Given the description of an element on the screen output the (x, y) to click on. 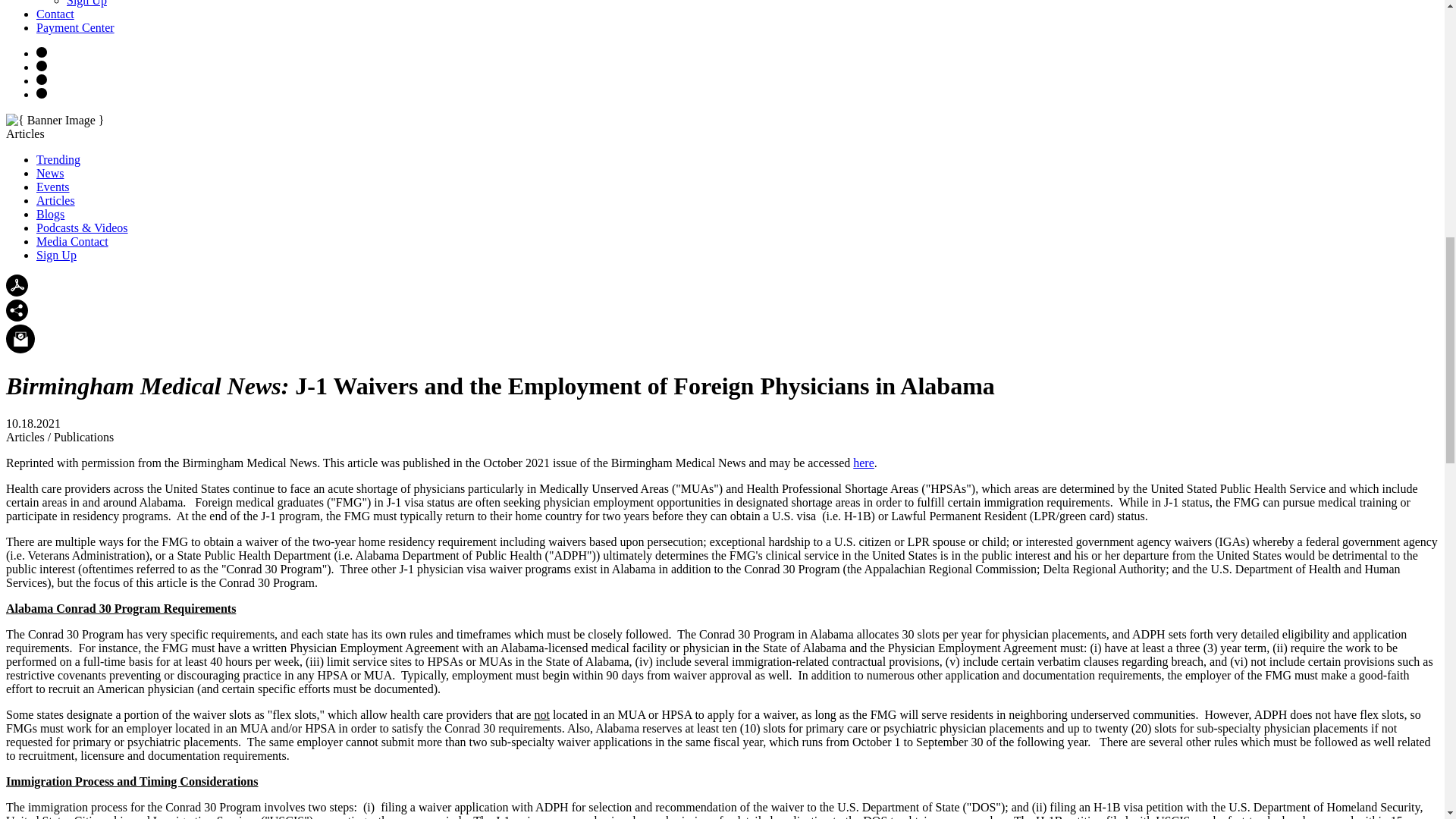
Instagram (41, 51)
Share (16, 310)
Print PDF (16, 291)
Facebook (41, 65)
Linkedin (41, 92)
Share (16, 317)
PDF (16, 285)
Subscribe (19, 338)
